Given the description of an element on the screen output the (x, y) to click on. 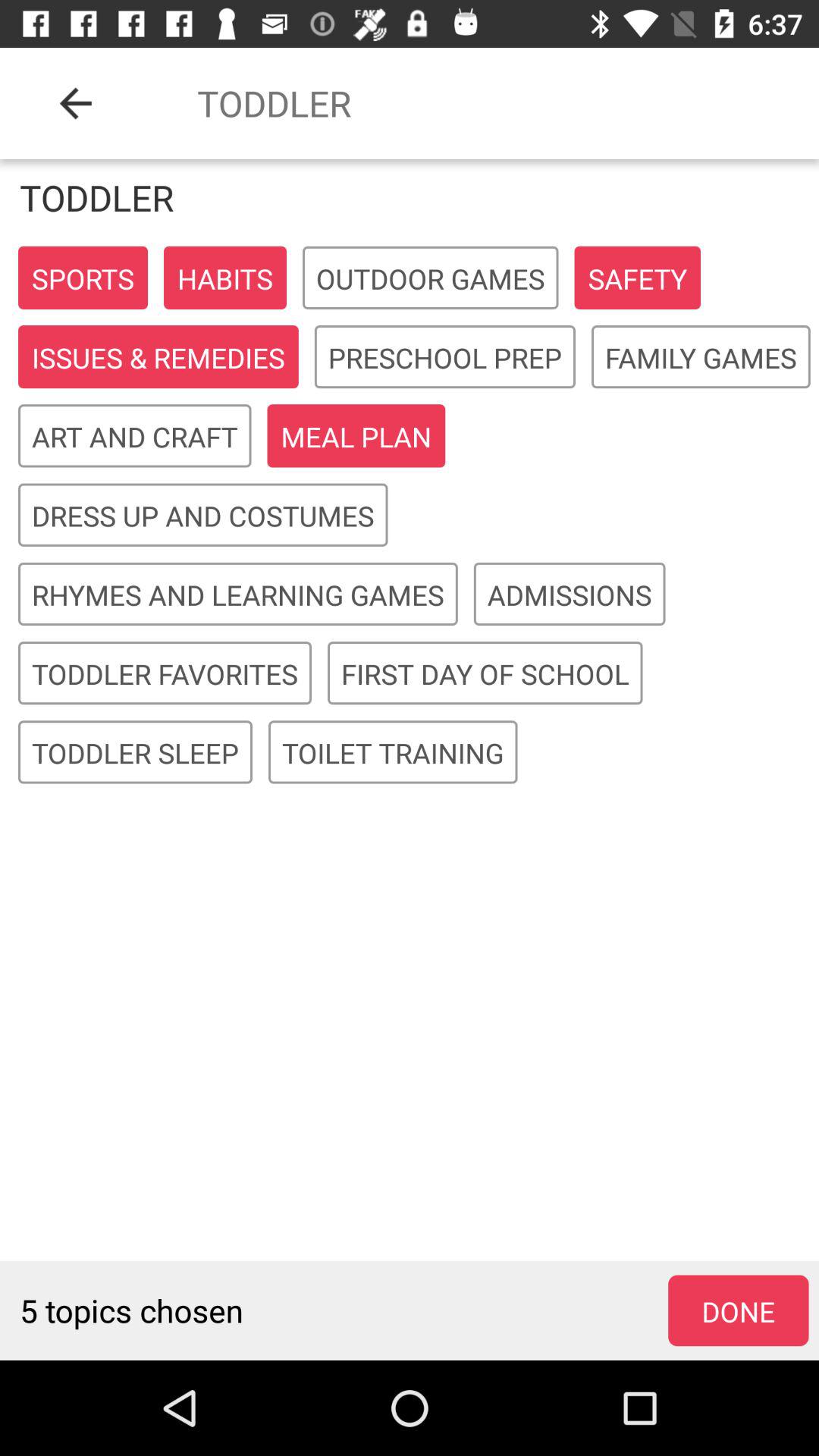
select icon above the dress up and icon (134, 436)
